Given the description of an element on the screen output the (x, y) to click on. 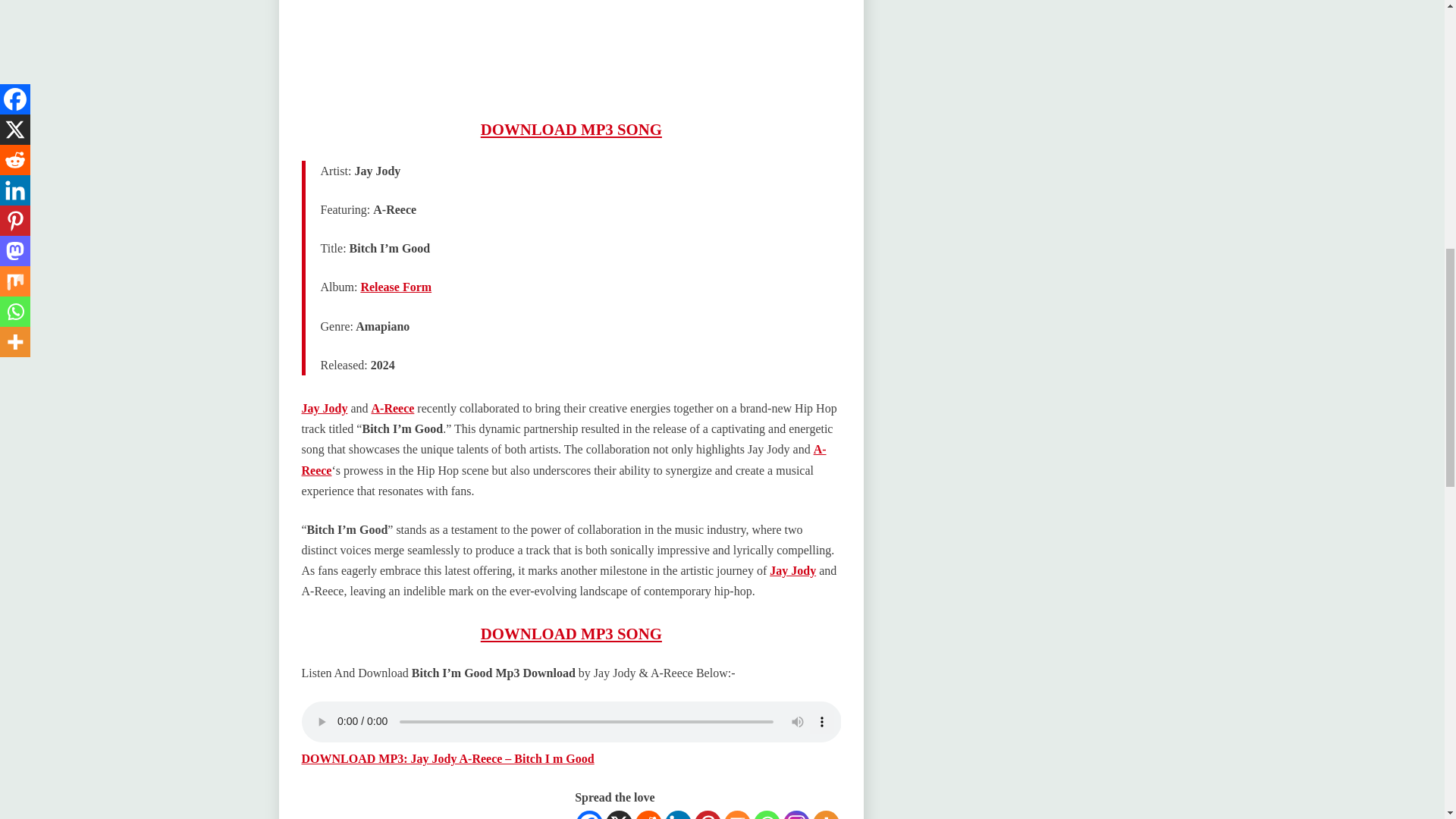
Linkedin (678, 814)
Release Form (394, 286)
Jay Jody (792, 570)
Reddit (648, 814)
Instagram (796, 814)
More (826, 814)
Jay Jody (324, 408)
Mix (737, 814)
X (618, 814)
Facebook (589, 814)
